Given the description of an element on the screen output the (x, y) to click on. 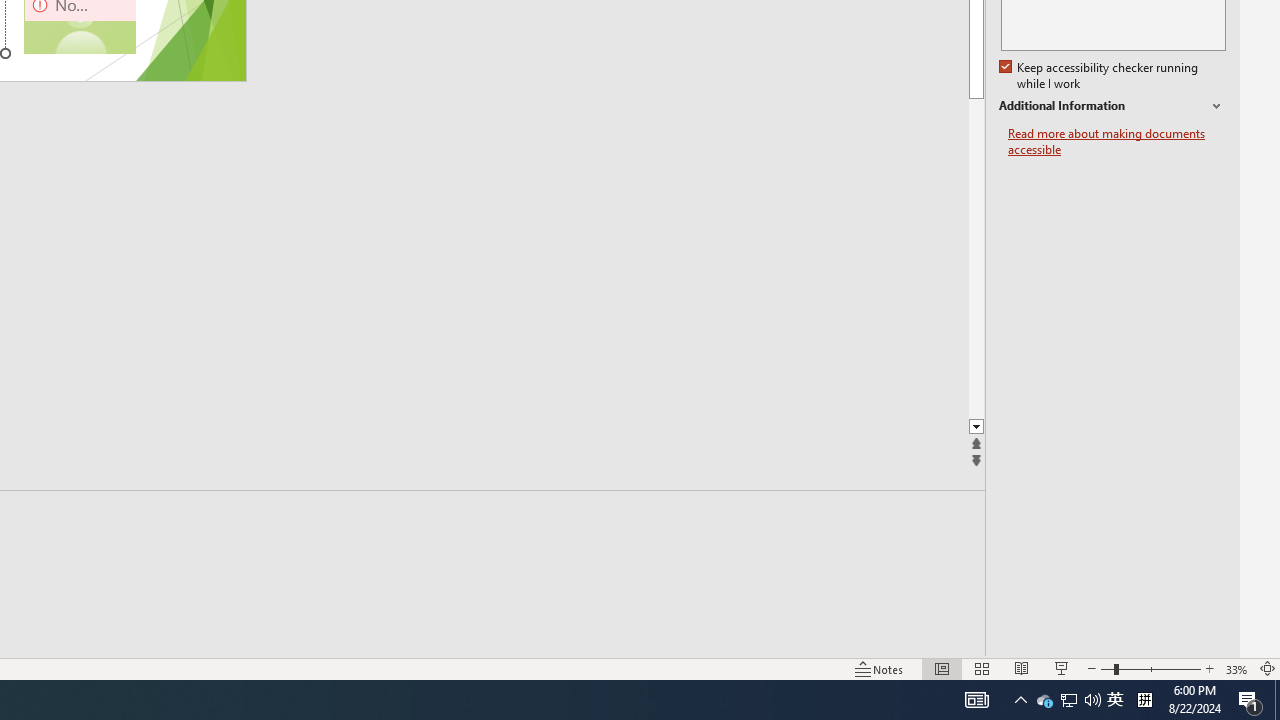
Zoom 33% (1236, 668)
